Given the description of an element on the screen output the (x, y) to click on. 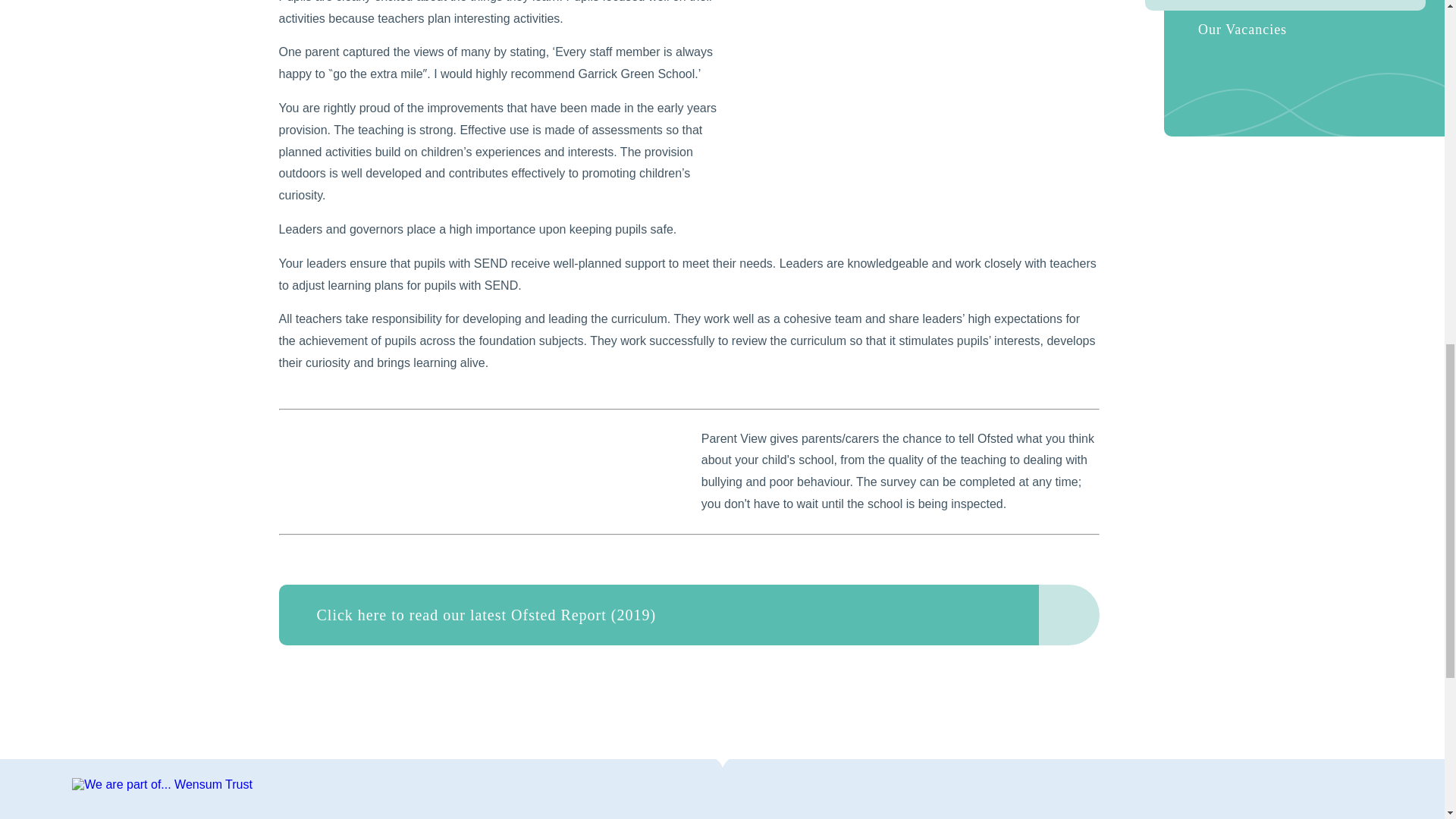
Download (1069, 614)
